Given the description of an element on the screen output the (x, y) to click on. 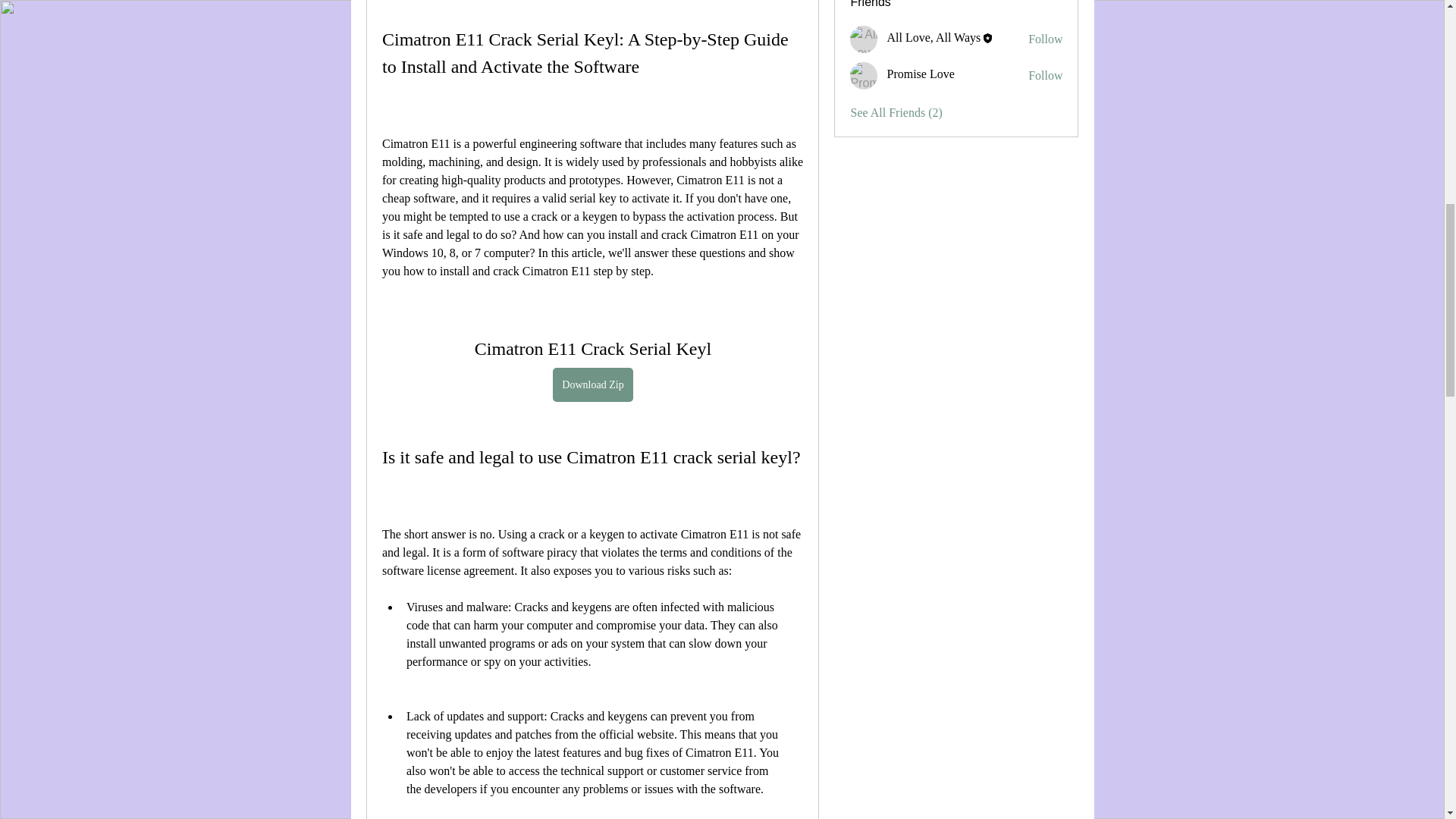
All Love, All Ways (932, 37)
Follow (1044, 39)
Download Zip (592, 384)
Promise Love (863, 75)
Promise Love (919, 73)
All Love, All Ways (863, 39)
Follow (1044, 75)
